Given the description of an element on the screen output the (x, y) to click on. 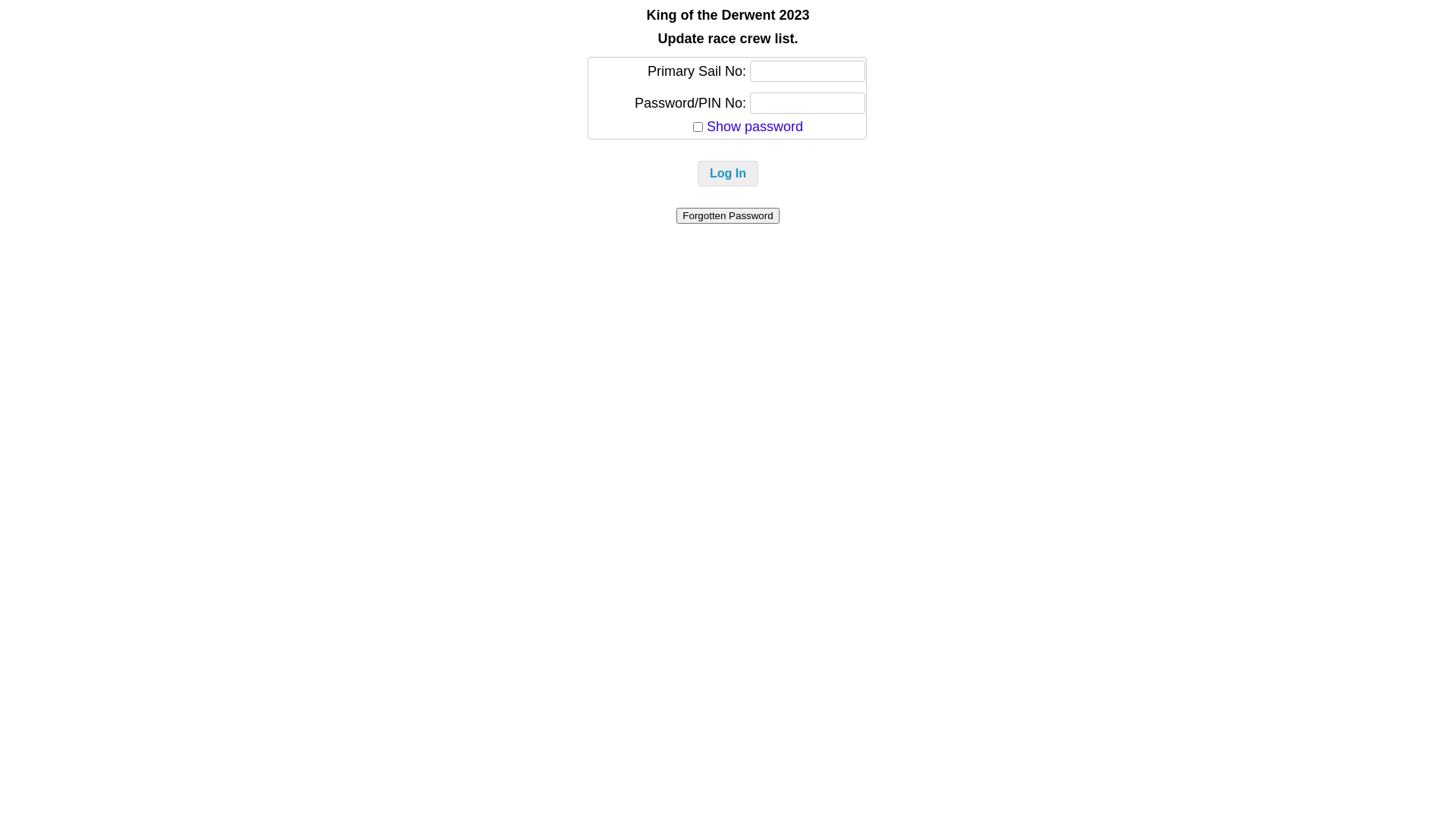
Log In Element type: text (727, 173)
Forgotten Password Element type: text (727, 215)
